Given the description of an element on the screen output the (x, y) to click on. 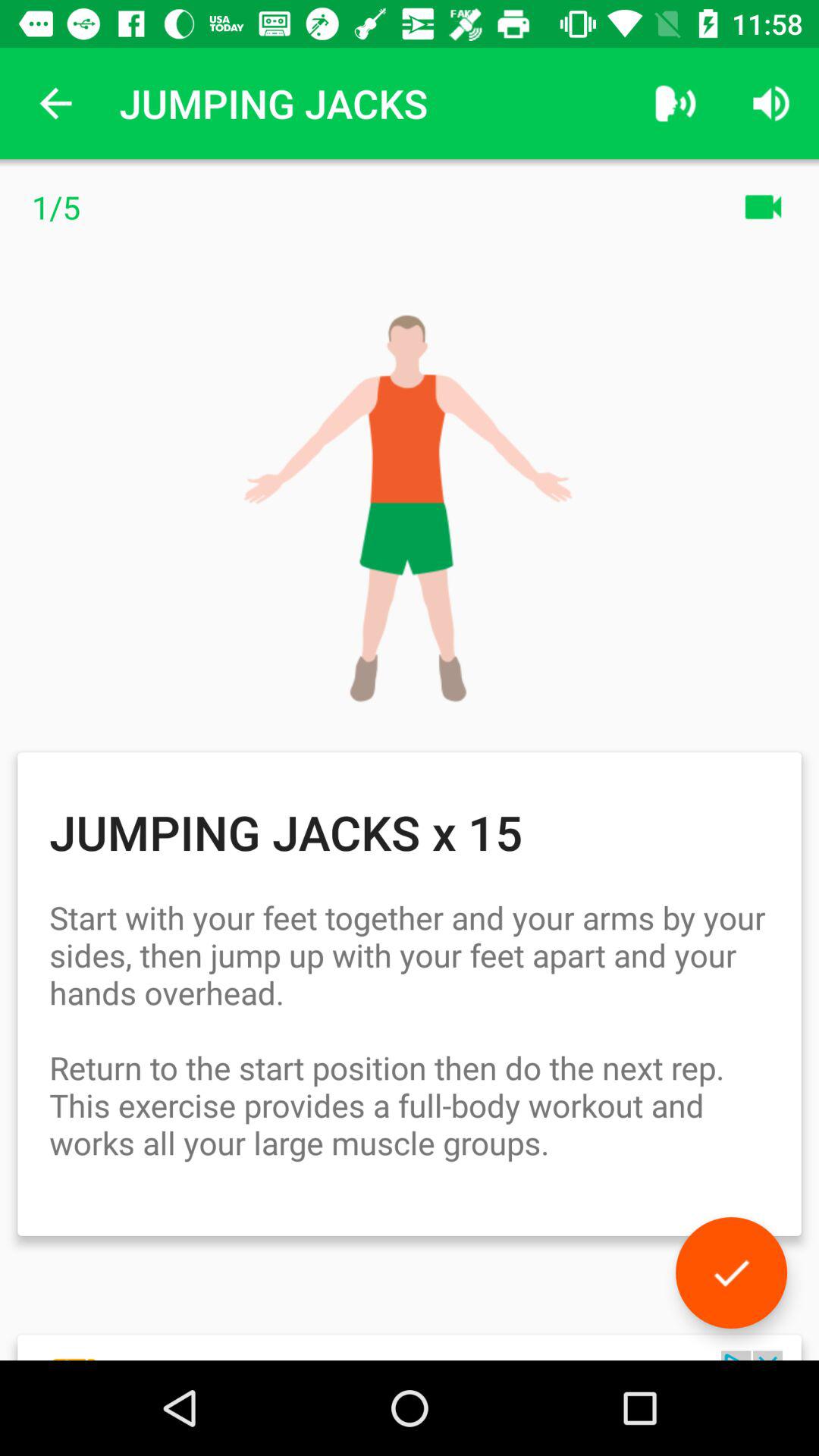
begin excersice (731, 1272)
